Given the description of an element on the screen output the (x, y) to click on. 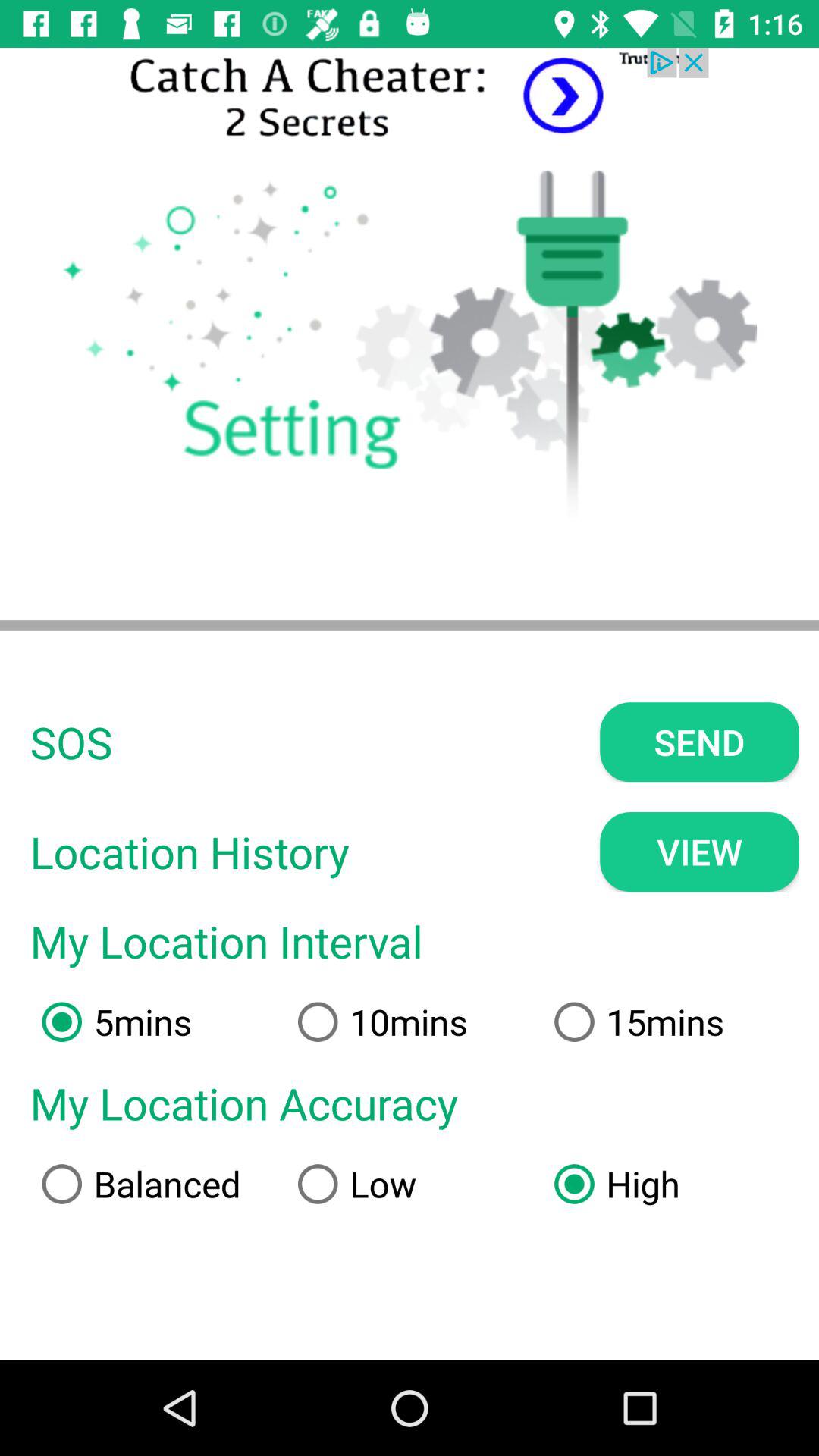
open advertisement (409, 97)
